Given the description of an element on the screen output the (x, y) to click on. 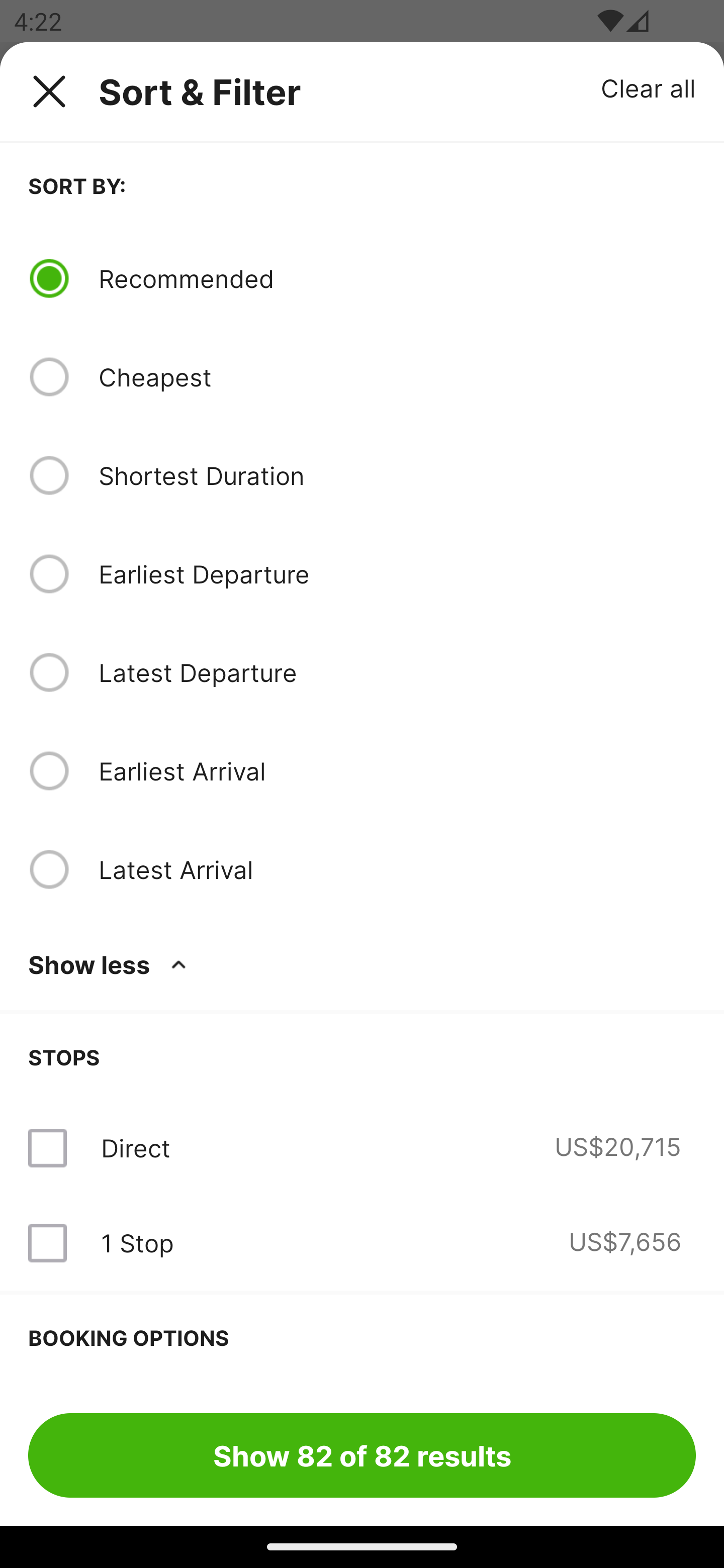
Clear all (648, 87)
Recommended  (396, 278)
Cheapest (396, 377)
Shortest Duration (396, 474)
Earliest Departure (396, 573)
Latest Departure (396, 672)
Earliest Arrival (396, 770)
Latest Arrival (396, 869)
Show less (110, 964)
Direct US$20,715 (362, 1147)
Direct (135, 1147)
1 Stop US$7,656 (362, 1242)
1 Stop (136, 1242)
Show 82 of 82 results (361, 1454)
